Given the description of an element on the screen output the (x, y) to click on. 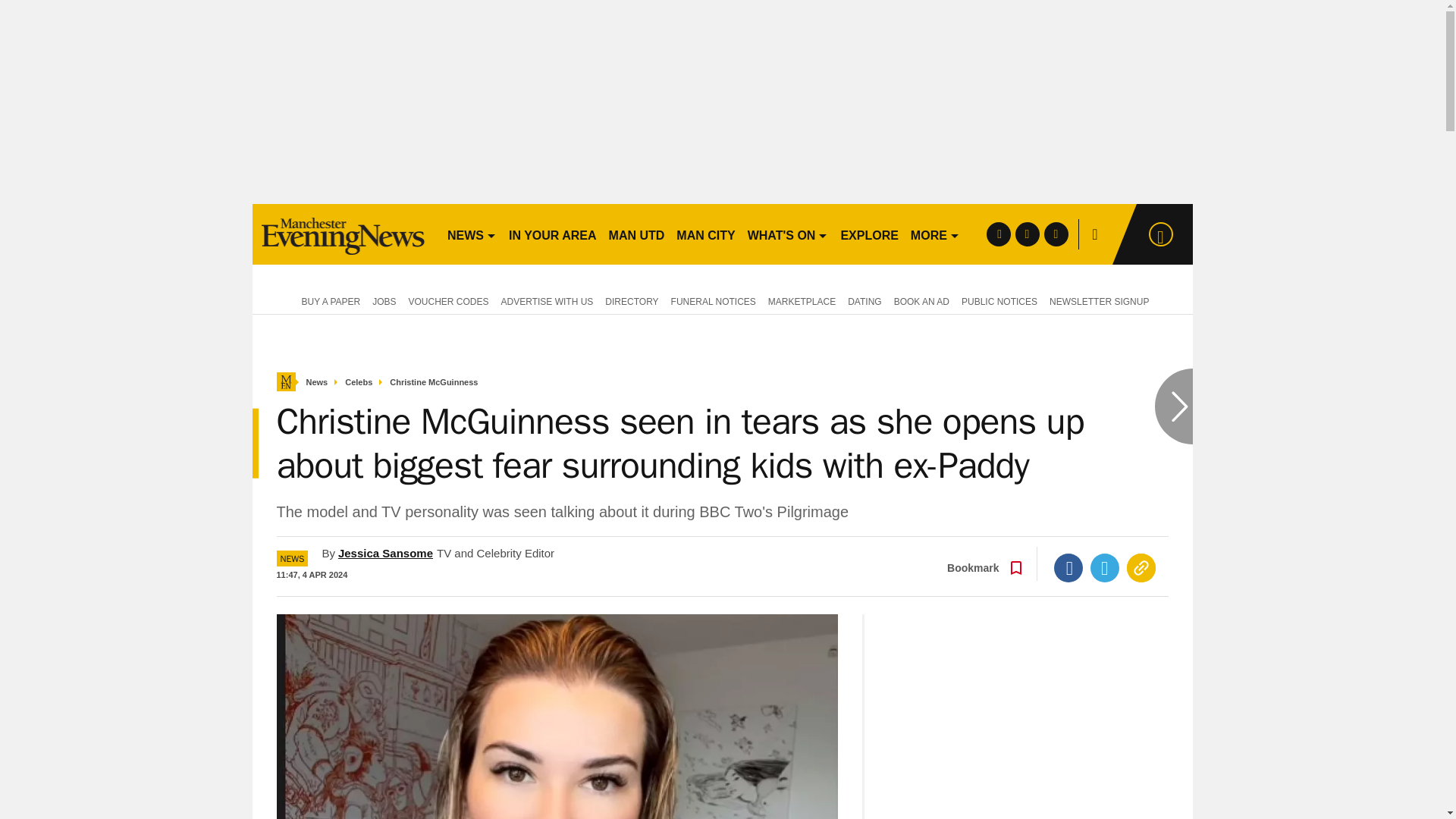
twitter (1026, 233)
MAN CITY (705, 233)
Twitter (1104, 567)
NEWS (471, 233)
instagram (1055, 233)
WHAT'S ON (787, 233)
Facebook (1068, 567)
facebook (997, 233)
MAN UTD (636, 233)
IN YOUR AREA (552, 233)
